Given the description of an element on the screen output the (x, y) to click on. 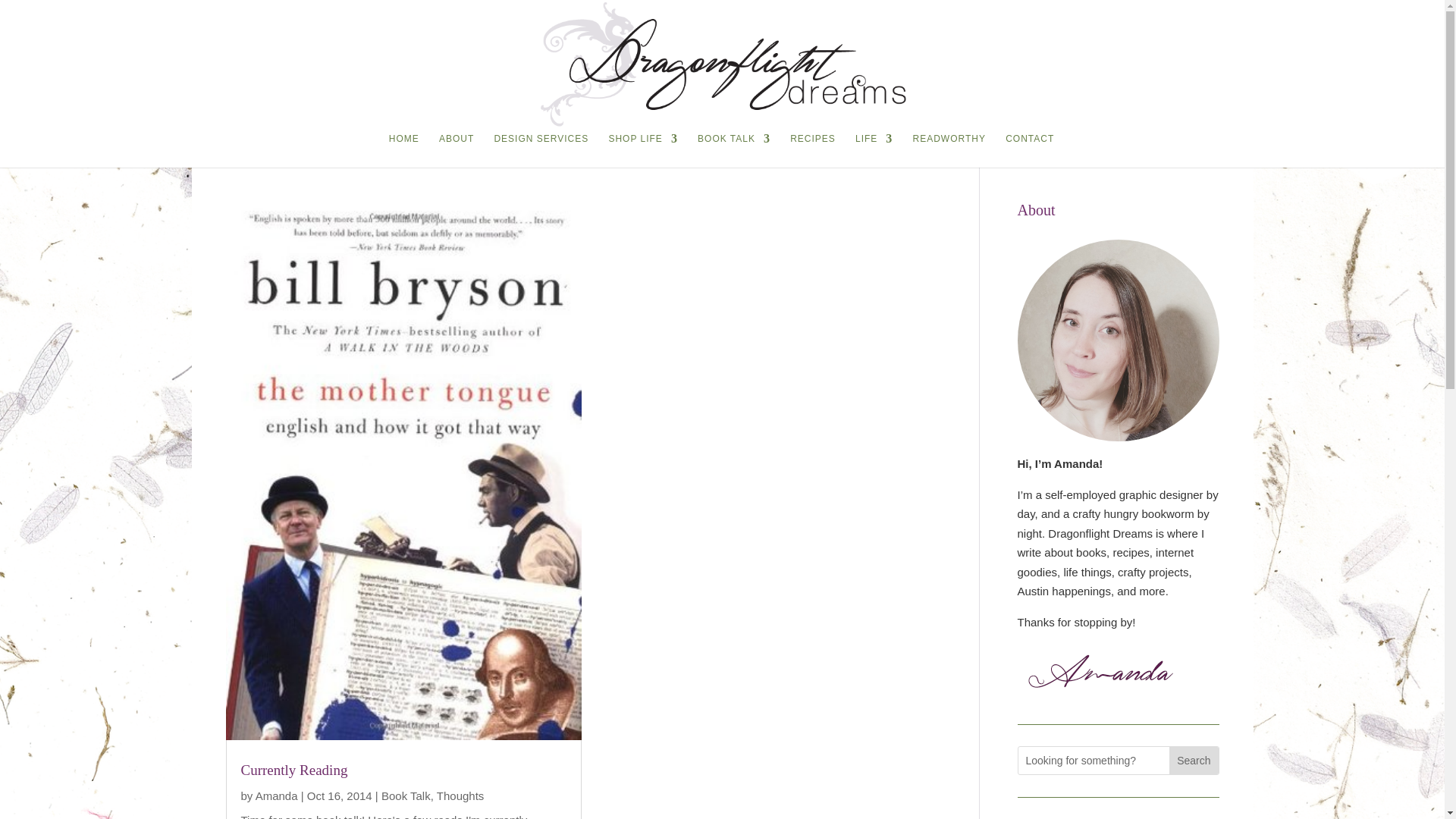
Amanda (277, 795)
Book Talk (405, 795)
Search (1193, 759)
SHOP LIFE (642, 150)
HOME (403, 150)
ABOUT (456, 150)
LIFE (874, 150)
BOOK TALK (733, 150)
Posts by Amanda (277, 795)
signature (1102, 673)
DESIGN SERVICES (540, 150)
READWORTHY (948, 150)
Thoughts (460, 795)
Currently Reading (294, 770)
Search (1193, 759)
